Given the description of an element on the screen output the (x, y) to click on. 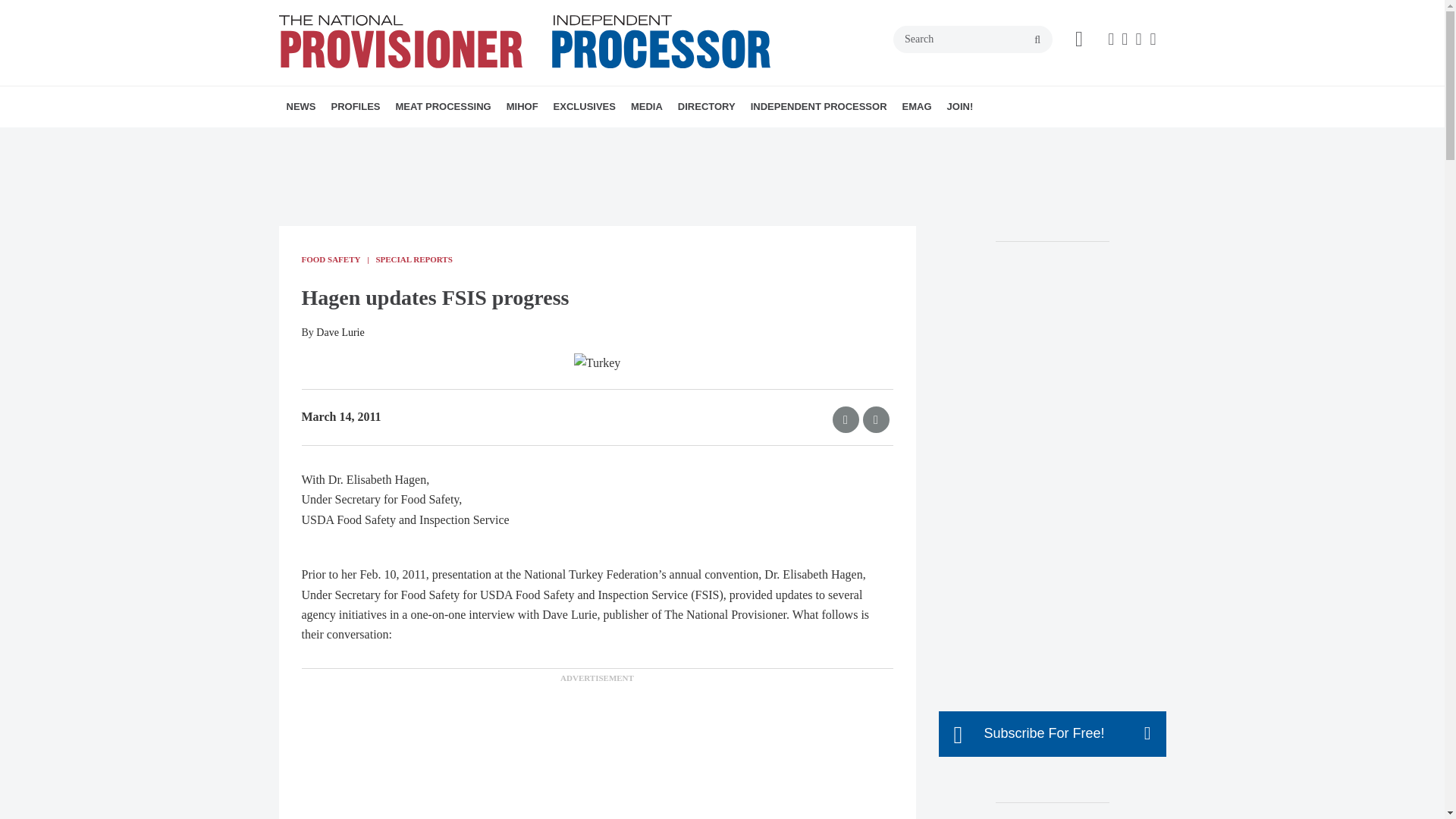
INGREDIENTS (500, 139)
search (1037, 39)
SPECIAL REPORTS (513, 139)
PROCESSING (489, 139)
PACKAGING (496, 139)
EXCLUSIVES (584, 106)
FORMULATION (506, 139)
MEAT PROCESSING (443, 106)
WEBINARS (653, 139)
NEW CONSUMER PRODUCTS (400, 139)
